Given the description of an element on the screen output the (x, y) to click on. 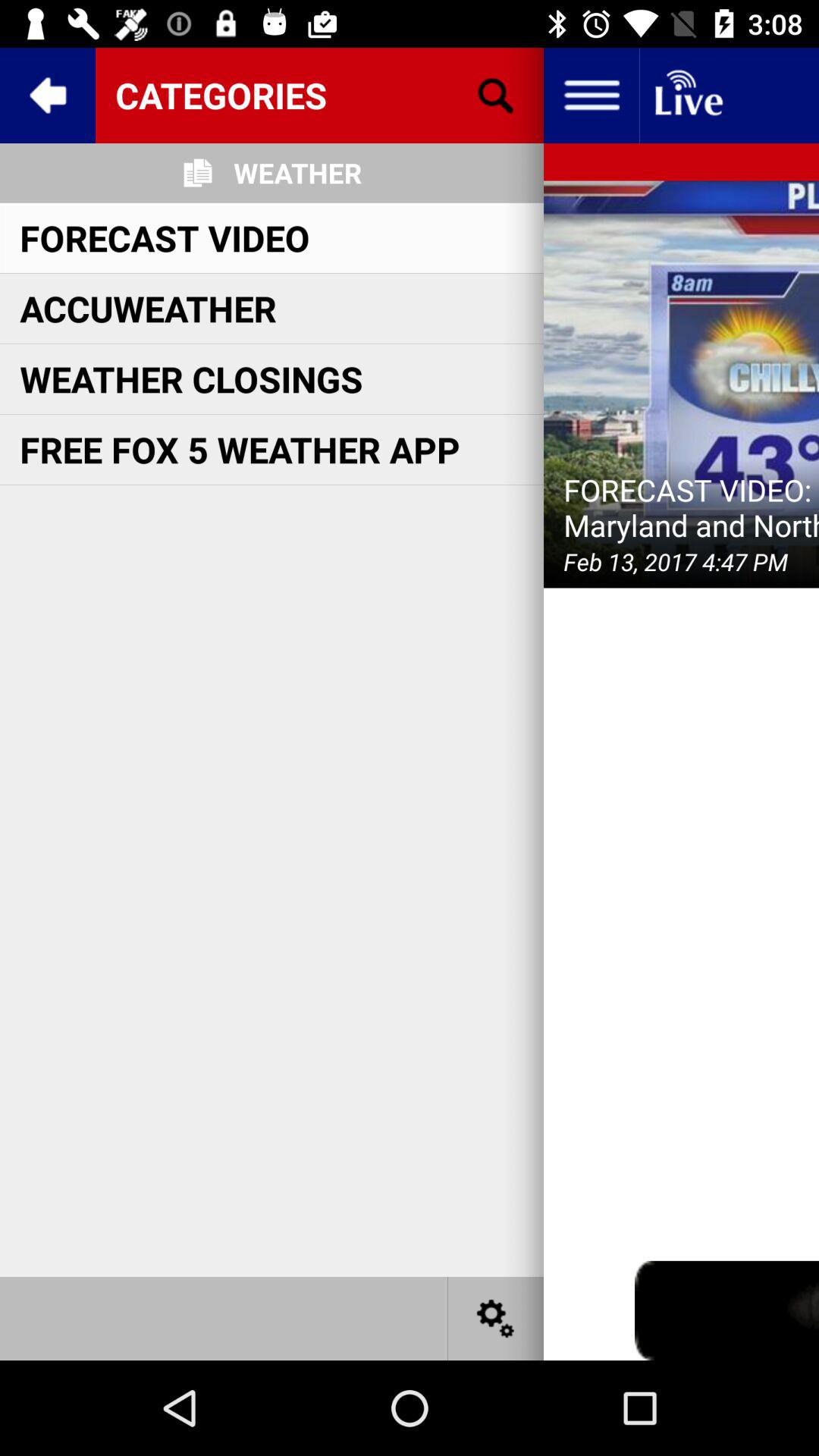
click the more button (591, 95)
click the bottom button settings icon (495, 1317)
click the button on the top right corner of the web page (687, 95)
